Given the description of an element on the screen output the (x, y) to click on. 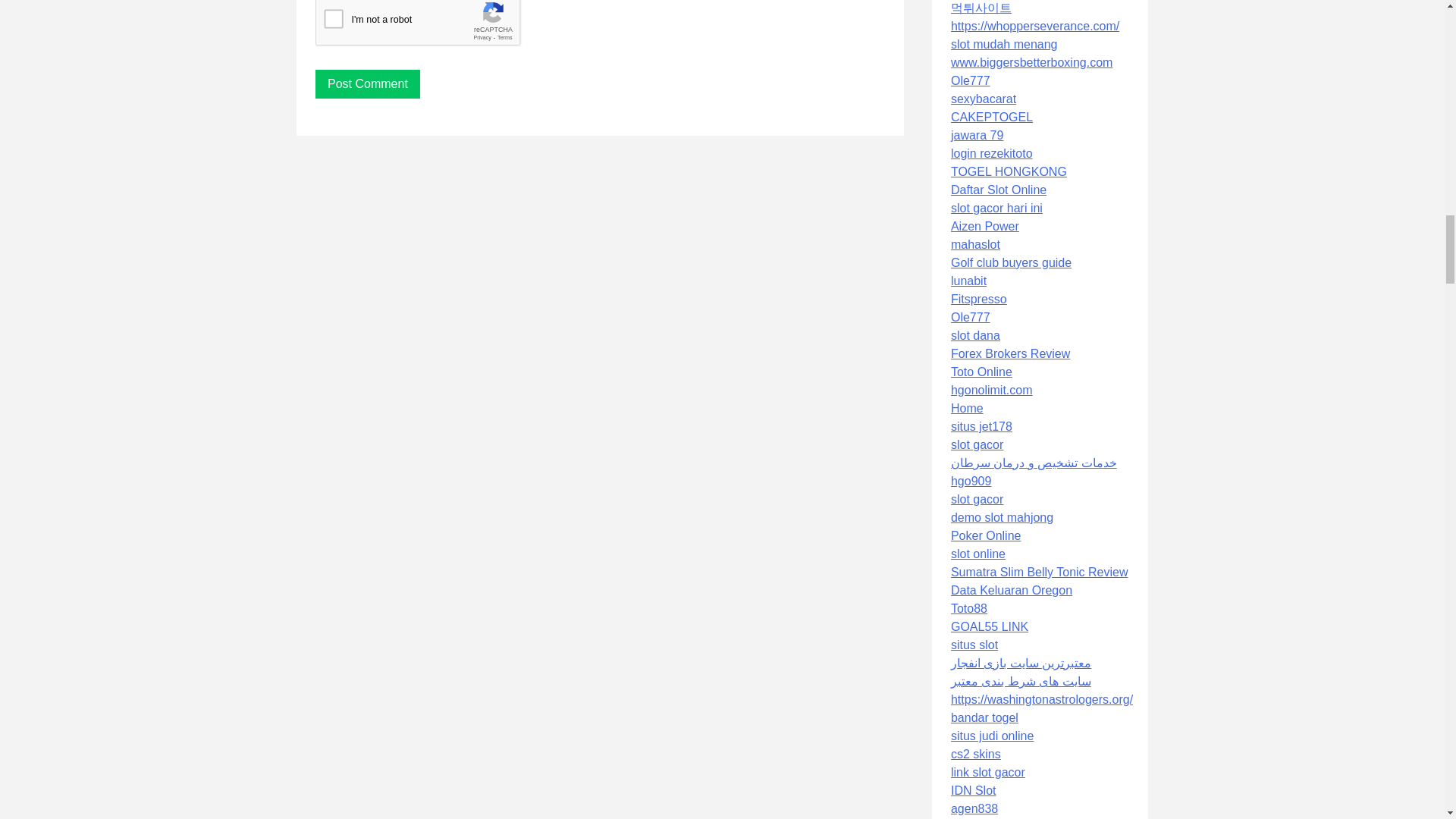
lunabit (968, 280)
Post Comment (367, 83)
reCAPTCHA (430, 26)
Post Comment (367, 83)
